Given the description of an element on the screen output the (x, y) to click on. 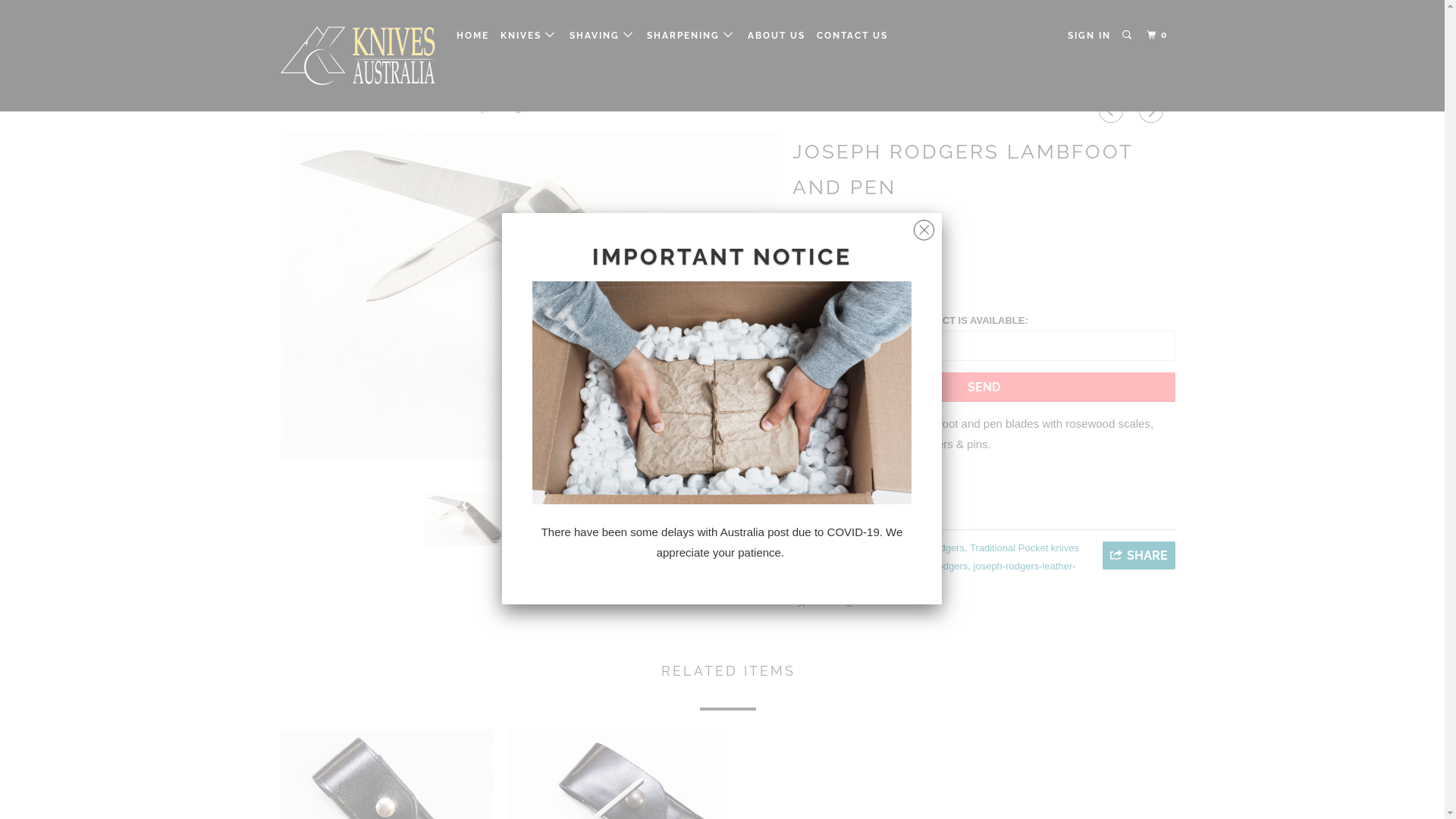
All knives Element type: text (866, 547)
Previous Element type: hover (1112, 110)
Home Element type: text (294, 106)
SHARPENING Element type: text (690, 34)
CONTACT US Element type: text (852, 35)
Benchmade Element type: text (863, 565)
Next Element type: hover (1153, 110)
Traditional Pocket knives Element type: text (1024, 547)
HOME Element type: text (472, 35)
0 Element type: text (1158, 34)
SHAVING Element type: text (602, 34)
Send Element type: text (983, 386)
Close Element type: hover (923, 225)
Folding Knife Element type: text (847, 600)
Joseph Rodgers Element type: text (932, 565)
SIGN IN Element type: text (1088, 35)
joseph-rodgers-leather-pouch Element type: text (934, 574)
KNIVES Element type: text (528, 34)
AKC Knives Australia Element type: hover (358, 55)
Search Element type: hover (1128, 34)
Joseph Rodgers Element type: text (928, 547)
Joseph Rodgers Element type: text (833, 226)
Traditional Pocket knives Element type: text (383, 106)
ABOUT US Element type: text (776, 35)
